Given the description of an element on the screen output the (x, y) to click on. 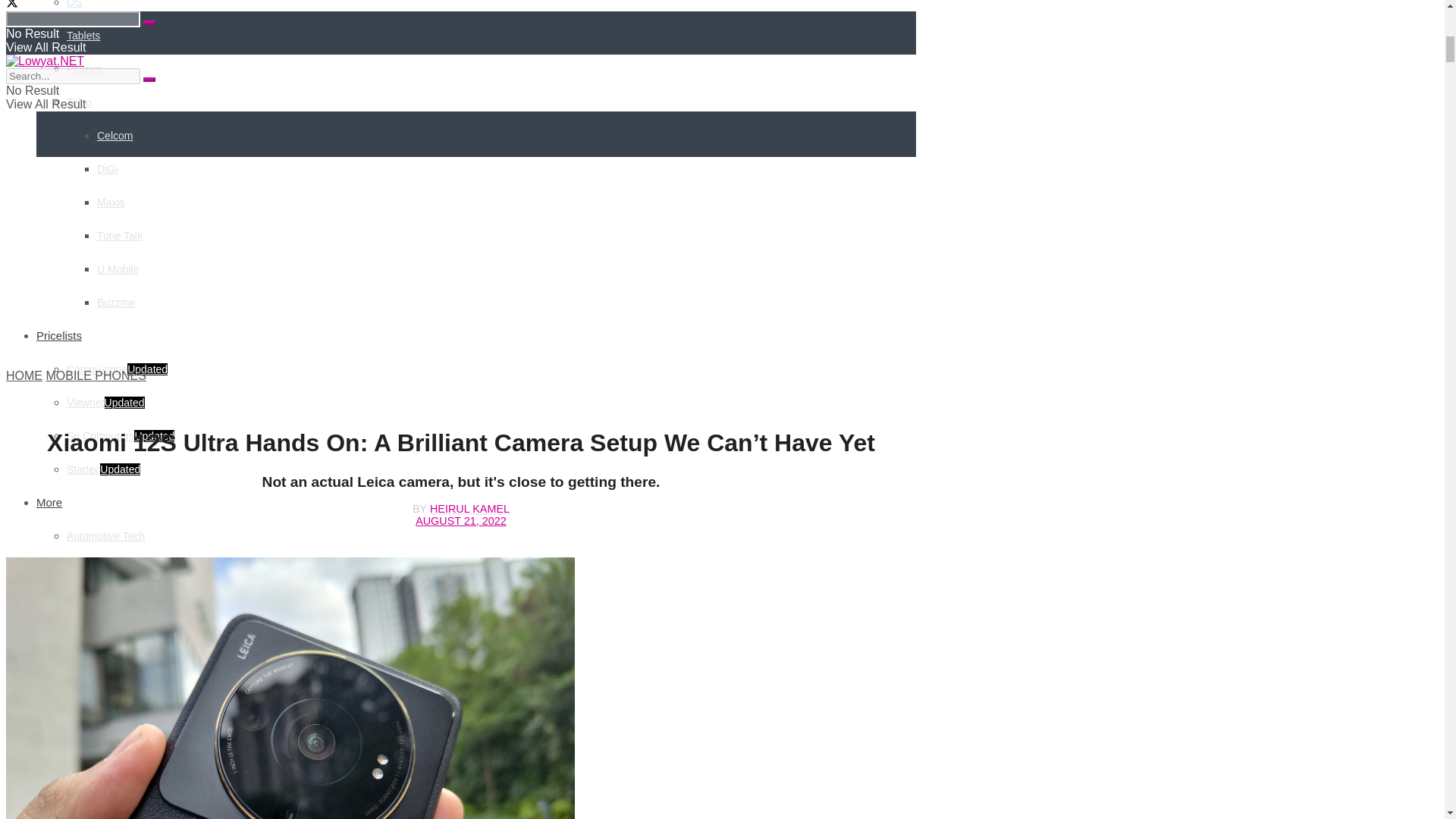
Tune Talk (119, 235)
OS (73, 4)
Maxis (111, 202)
DiGi (107, 168)
Telco (78, 102)
Tablets (83, 35)
Celcom (114, 135)
Phones (83, 69)
